Given the description of an element on the screen output the (x, y) to click on. 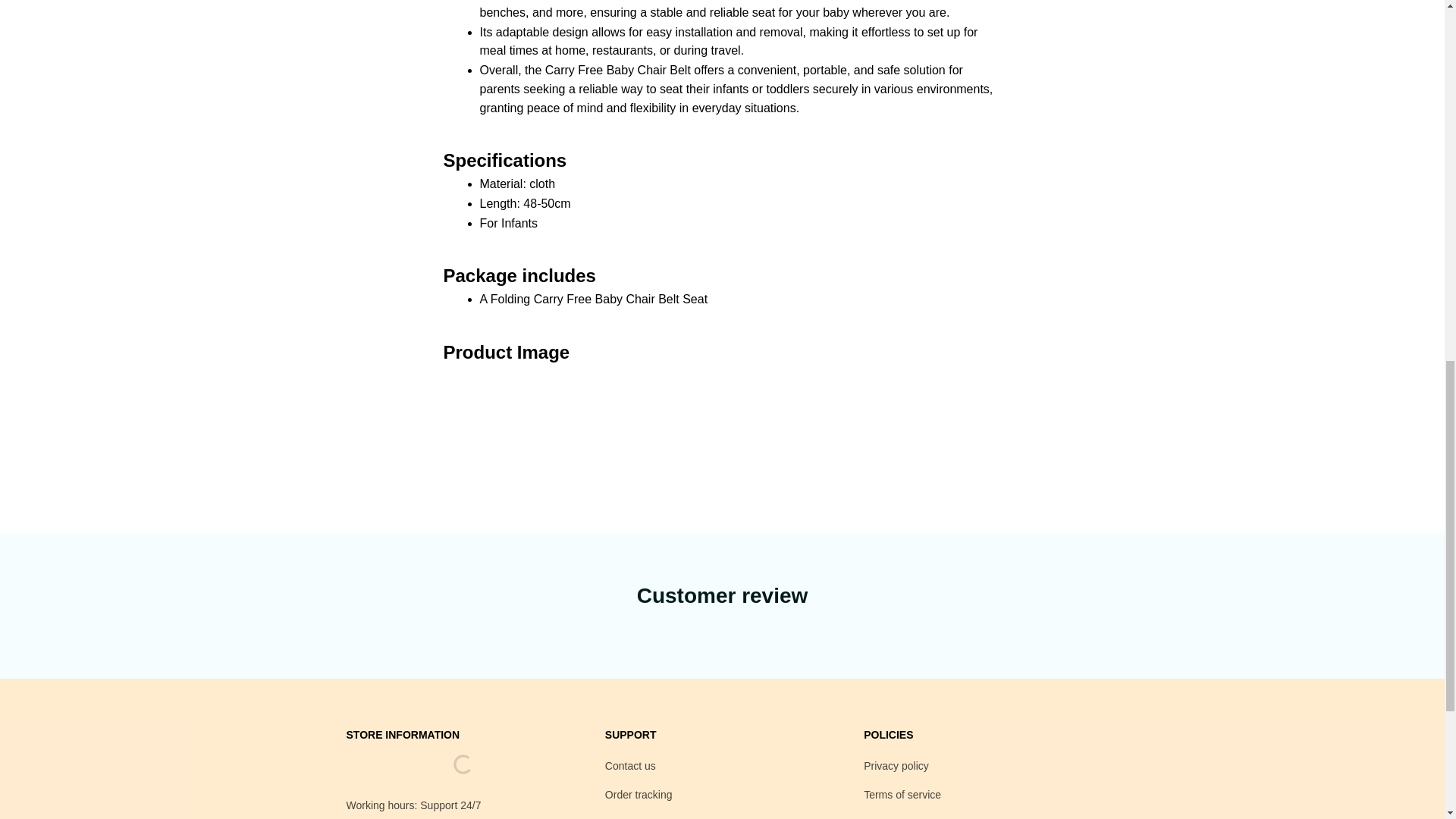
Terms of service (901, 795)
Privacy policy (895, 766)
Order tracking (638, 795)
Shipping policy (898, 817)
FAQs (618, 817)
Contact us (630, 766)
